Given the description of an element on the screen output the (x, y) to click on. 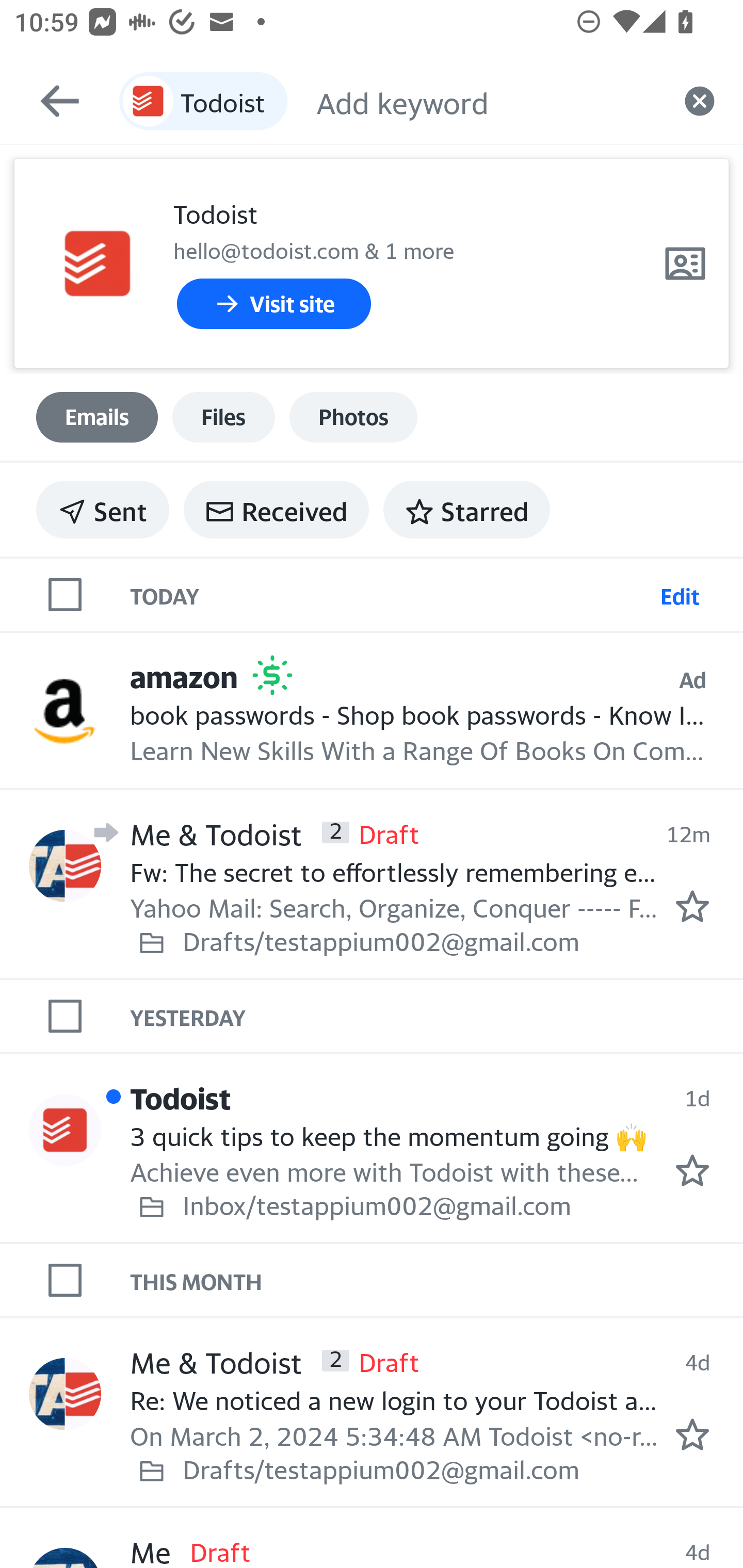
Back (50, 101)
Add keyword (486, 101)
Clear (699, 101)
Profile (97, 264)
Visit site (273, 304)
Emails (96, 417)
Files (223, 417)
Photos (353, 417)
Sent (102, 509)
Received (276, 509)
Starred (466, 509)
TODAY (391, 594)
Edit Select emails (679, 594)
Sponsored (272, 674)
Ad (692, 679)
Profile
Me & Todoist (64, 865)
Mark as starred. (692, 905)
YESTERDAY (436, 1016)
Profile
Todoist (64, 1130)
Mark as starred. (692, 1170)
THIS MONTH (436, 1280)
Profile
Me & Todoist (64, 1393)
Mark as starred. (692, 1433)
